Given the description of an element on the screen output the (x, y) to click on. 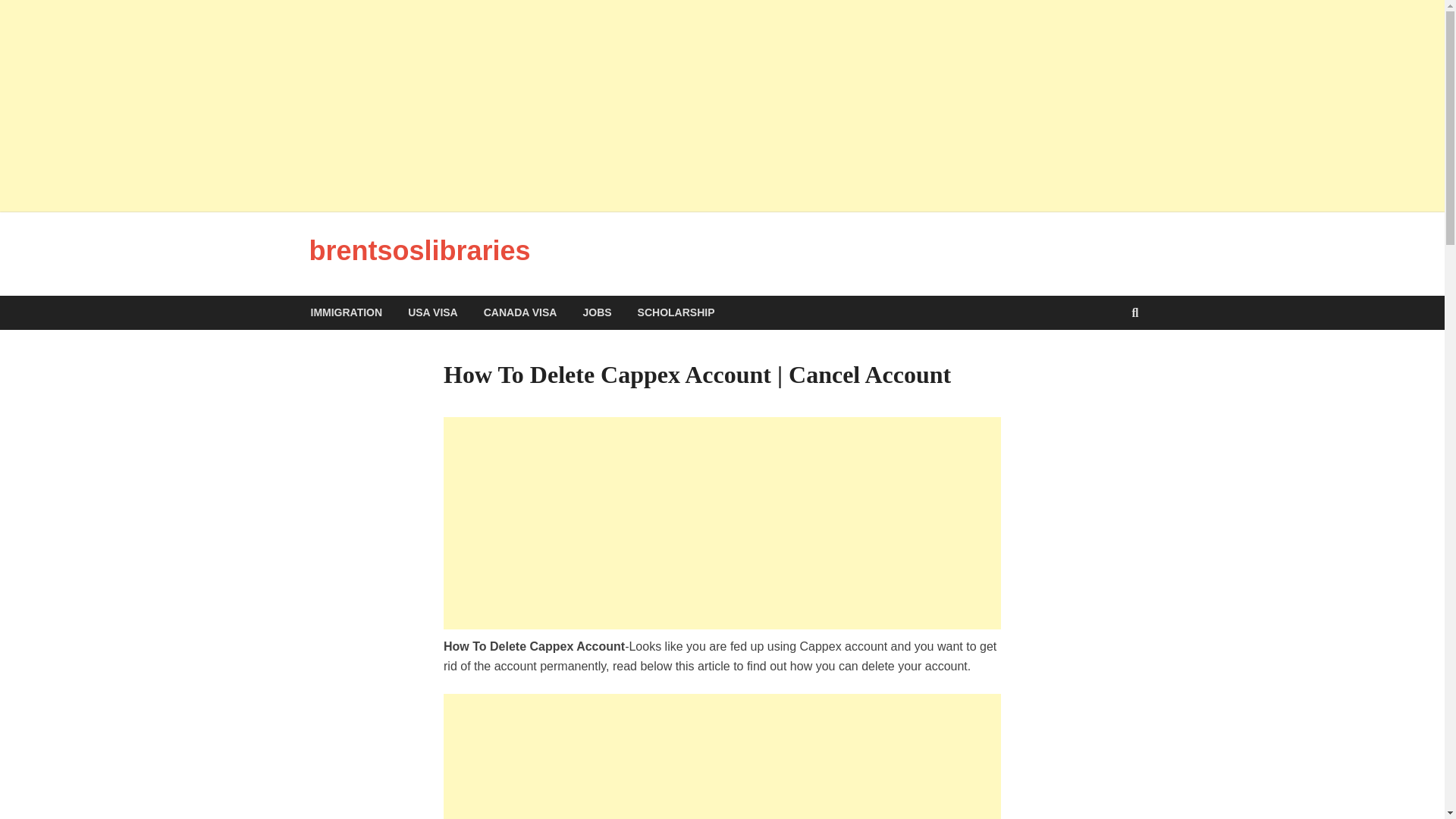
JOBS (596, 312)
brentsoslibraries (419, 250)
IMMIGRATION (345, 312)
USA VISA (432, 312)
CANADA VISA (520, 312)
SCHOLARSHIP (676, 312)
